Given the description of an element on the screen output the (x, y) to click on. 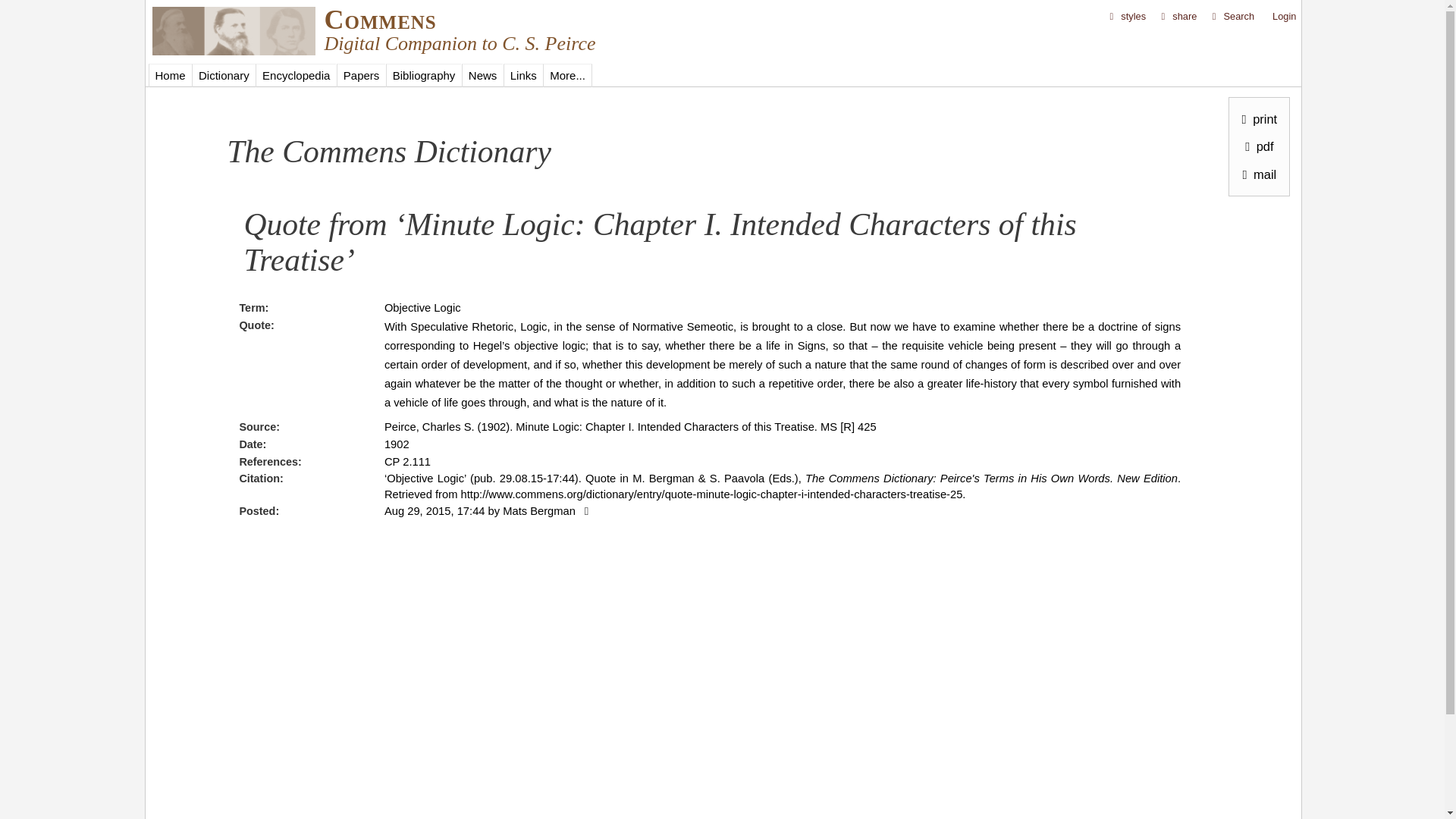
Home (232, 51)
pdf (1256, 146)
Bibliography (423, 74)
Search Commens (1232, 16)
Send this Dictionary Entry by email (1256, 173)
News (482, 74)
Home (380, 19)
Share this page on social media (1177, 16)
Objective Logic (422, 307)
More... (567, 74)
